Given the description of an element on the screen output the (x, y) to click on. 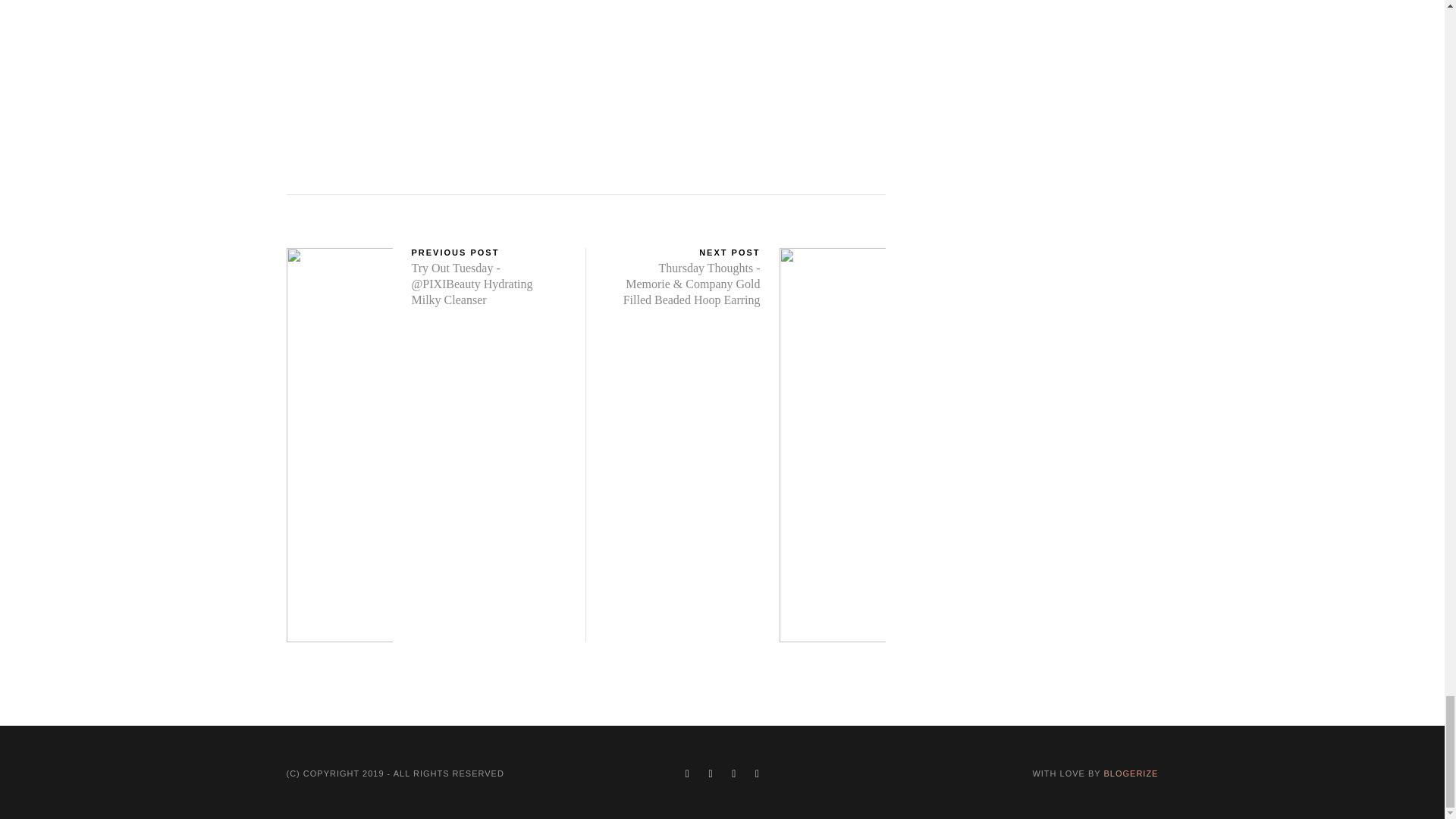
Comment Form (585, 83)
